Given the description of an element on the screen output the (x, y) to click on. 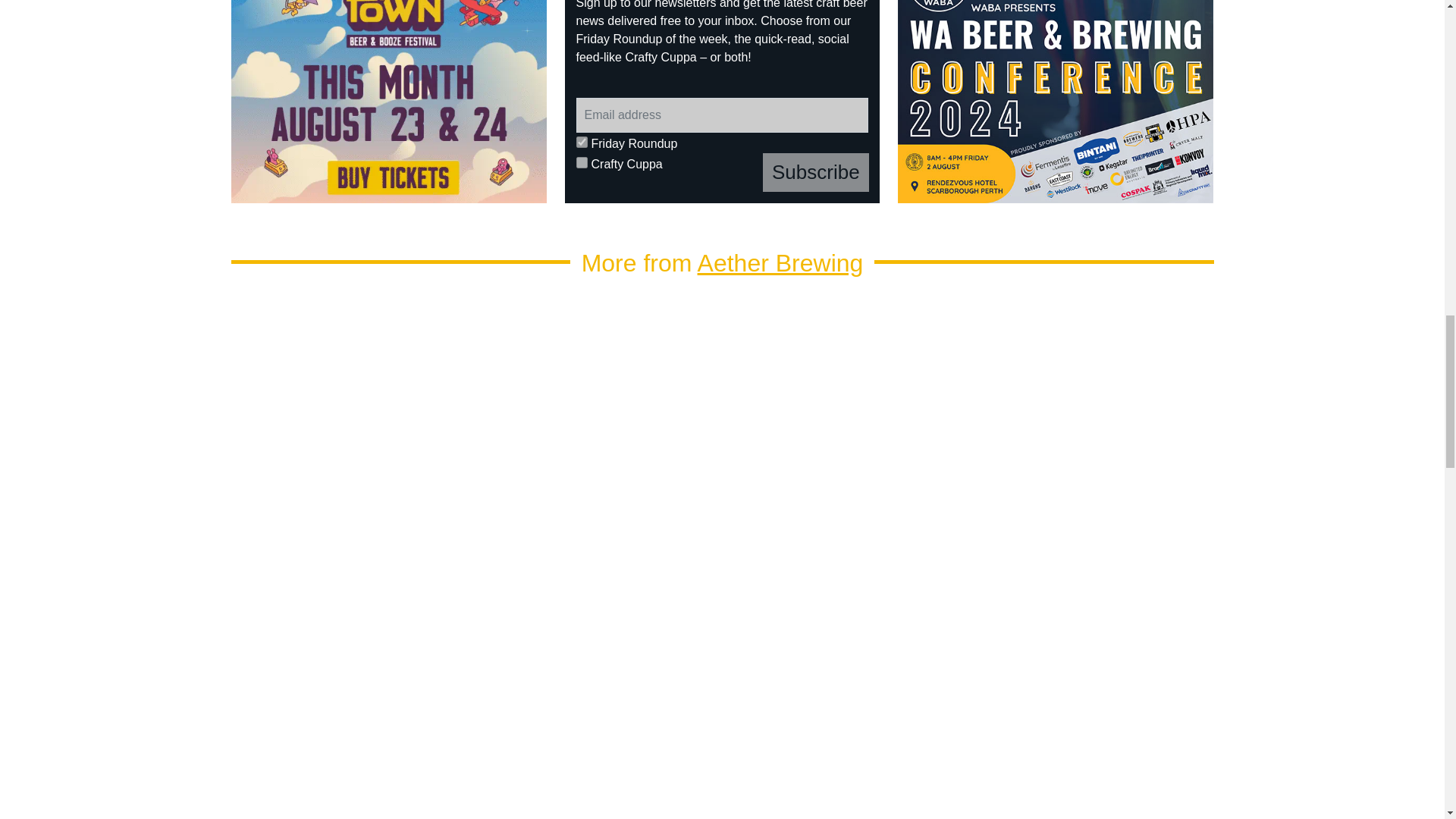
cuppa (582, 162)
friday (582, 142)
Subscribe (815, 172)
Froth Town 2024 B 2 (389, 101)
